Given the description of an element on the screen output the (x, y) to click on. 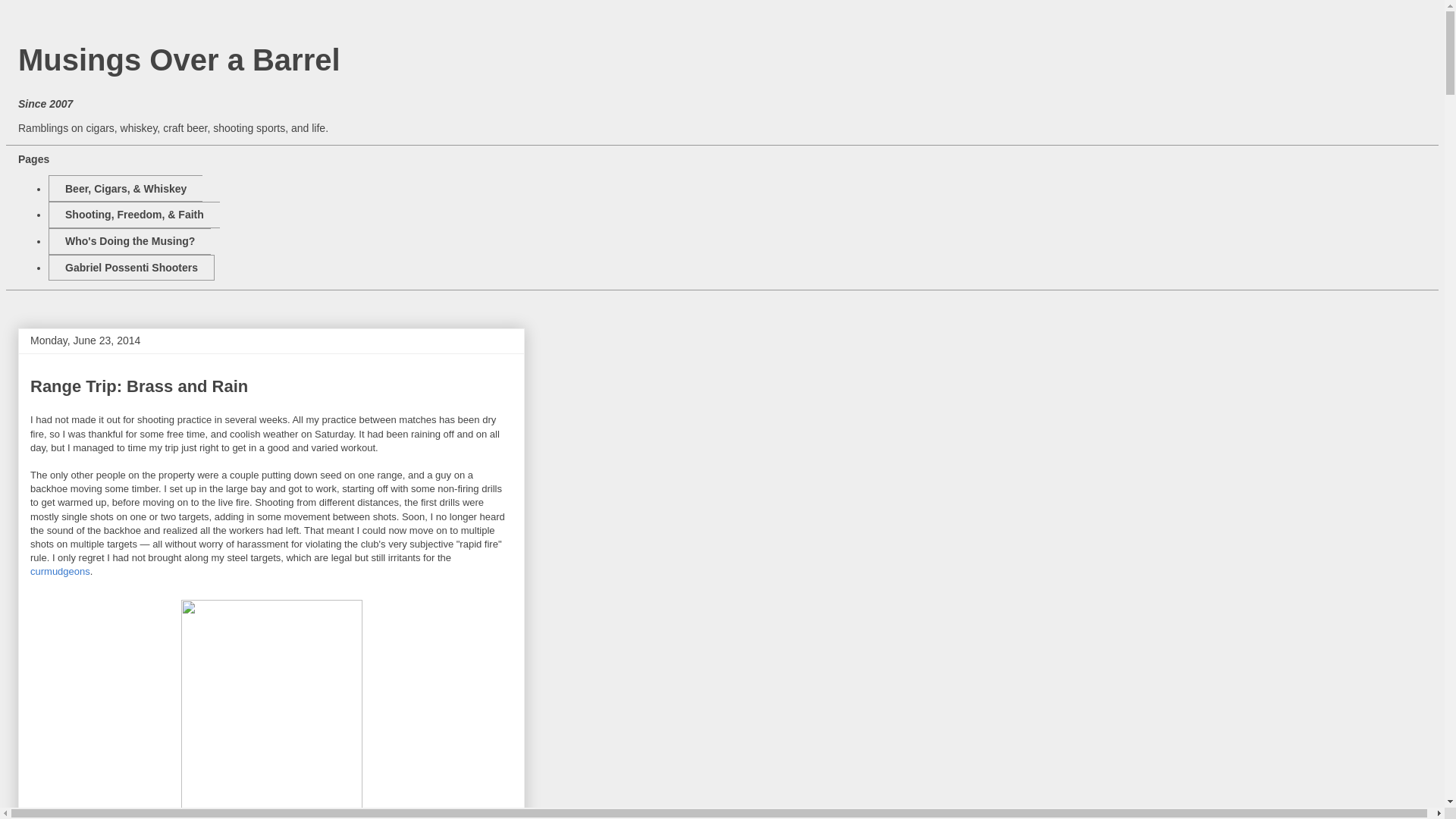
Musings Over a Barrel (178, 59)
Gabriel Possenti Shooters (131, 267)
curmudgeons (60, 571)
Who's Doing the Musing? (129, 241)
